Given the description of an element on the screen output the (x, y) to click on. 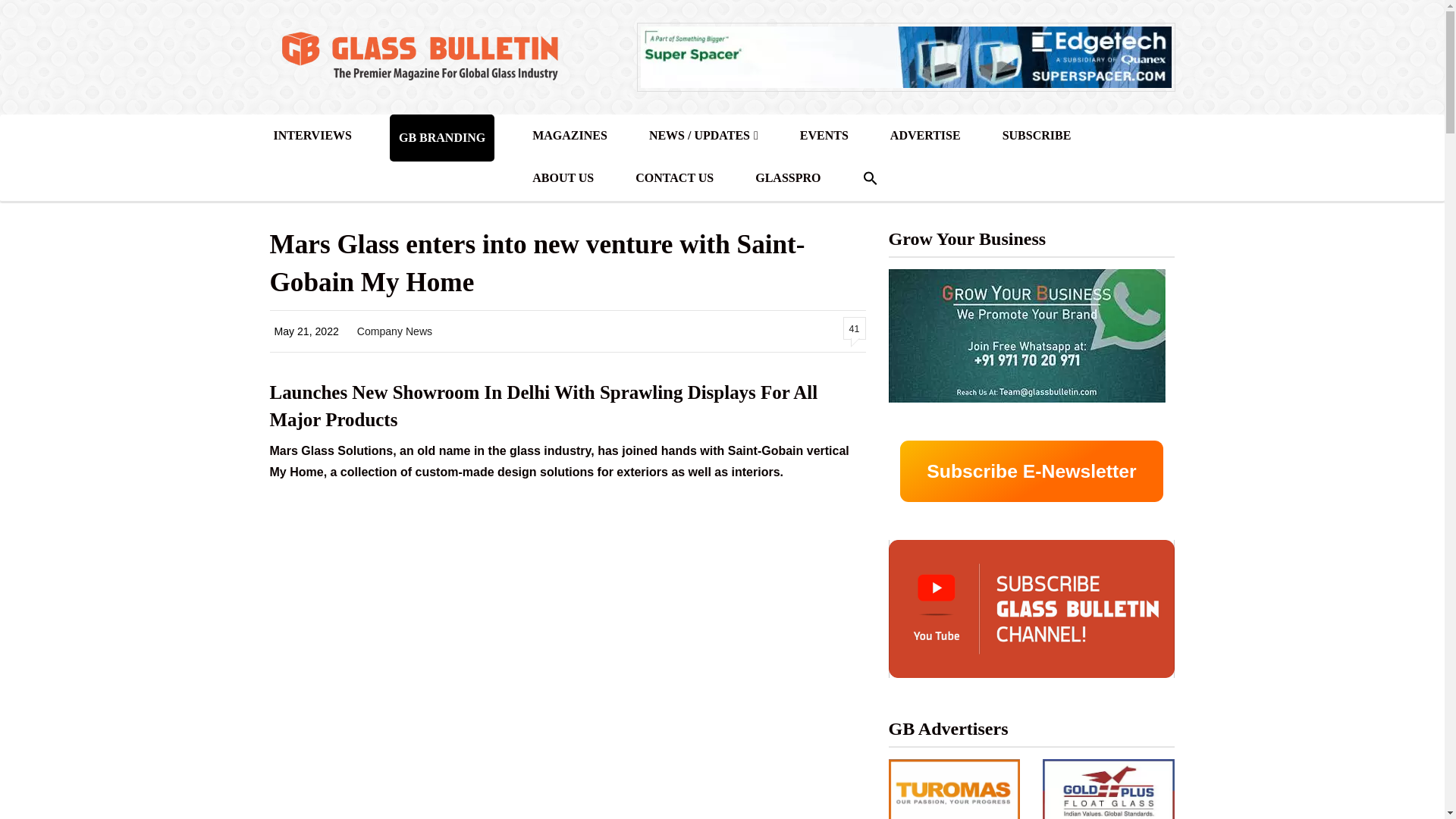
EVENTS (823, 135)
Edgetech (905, 56)
The Premier Magazine For Global Glass Industry (419, 56)
GLASSPRO (787, 178)
GB BRANDING (441, 137)
CONTACT US (674, 178)
ABOUT US (562, 178)
INTERVIEWS (312, 135)
MAGAZINES (569, 135)
ADVERTISE (924, 135)
SUBSCRIBE (1036, 135)
